Given the description of an element on the screen output the (x, y) to click on. 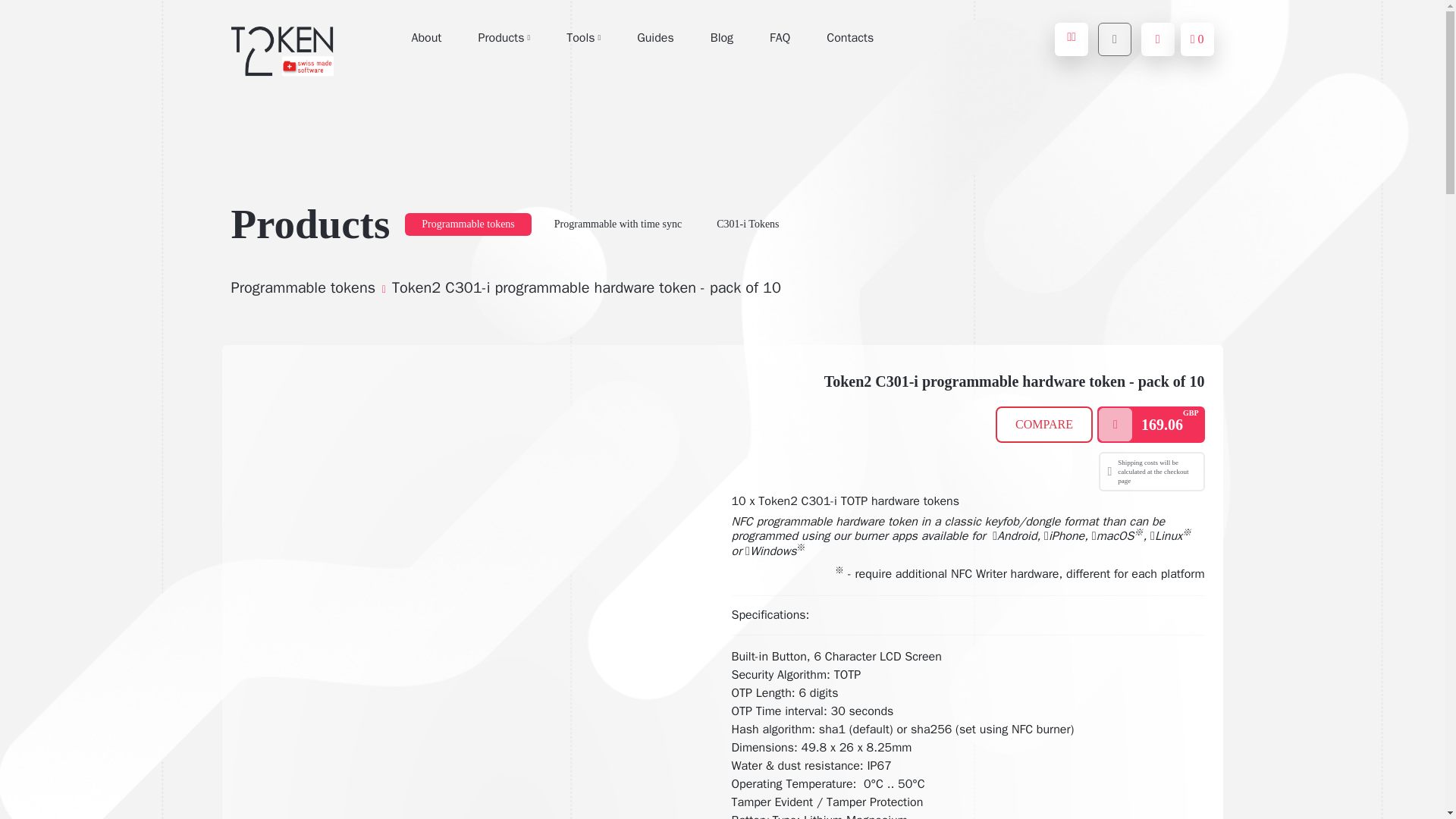
Navigate to our web shop for EU countries (1070, 39)
shopping cart (1197, 39)
FAQ (779, 37)
Products (503, 37)
0 (1197, 39)
not logged in (1157, 39)
Programmable with time sync (617, 224)
Tools (583, 37)
Guides (654, 37)
Programmable tokens (467, 224)
C301-i Tokens (747, 224)
choose currency (1114, 39)
Programmable tokens (467, 224)
About (425, 37)
Programmable tokens (302, 287)
